Given the description of an element on the screen output the (x, y) to click on. 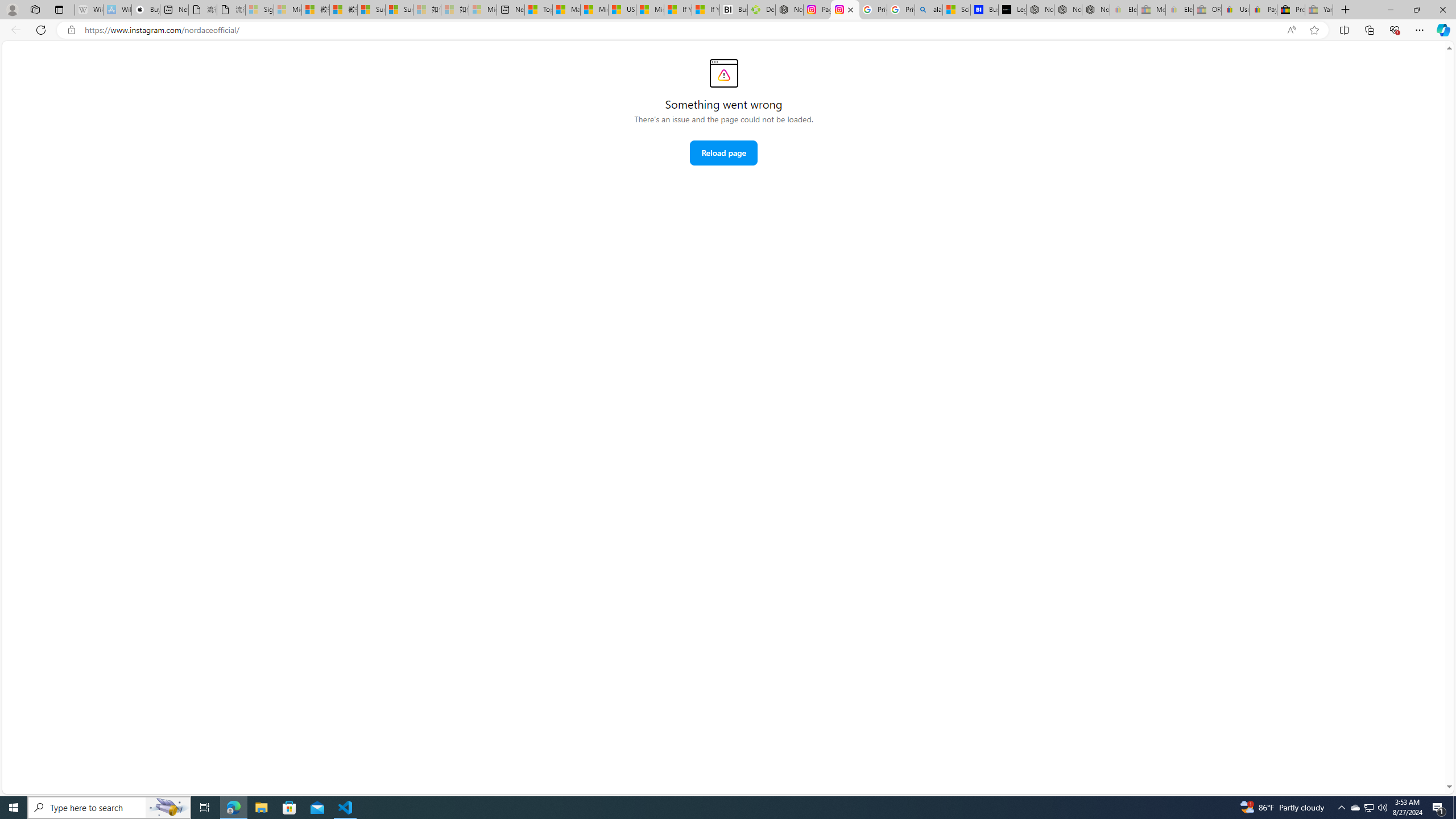
Microsoft Services Agreement - Sleeping (288, 9)
Payments Terms of Use | eBay.com (1262, 9)
User Privacy Notice | eBay (1235, 9)
Descarga Driver Updater (761, 9)
